Given the description of an element on the screen output the (x, y) to click on. 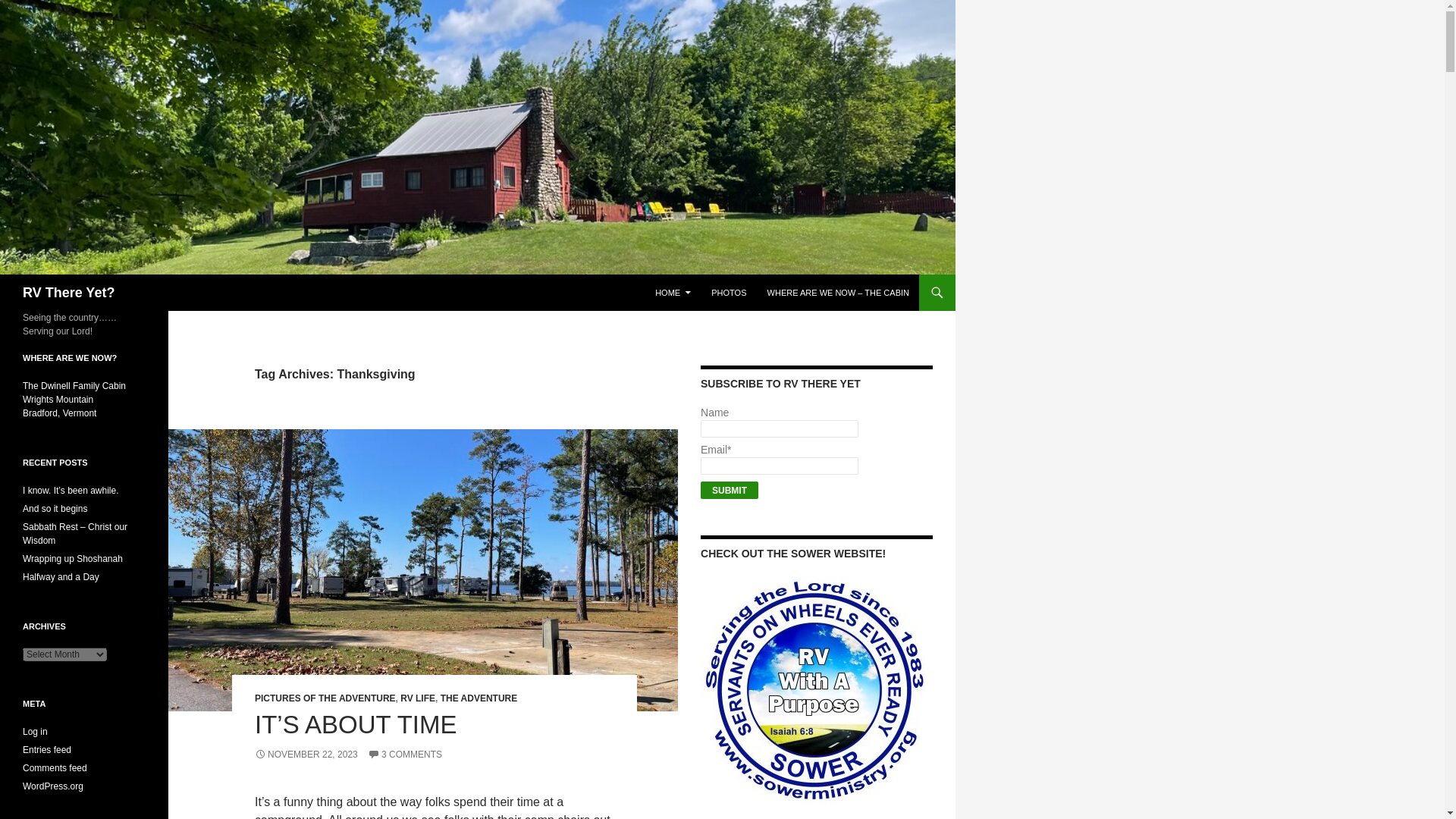
NOVEMBER 22, 2023 (306, 754)
PHOTOS (728, 292)
PICTURES OF THE ADVENTURE (325, 697)
Submit (729, 489)
RV LIFE (417, 697)
THE ADVENTURE (479, 697)
3 COMMENTS (405, 754)
RV There Yet? (69, 292)
HOME (673, 292)
